Given the description of an element on the screen output the (x, y) to click on. 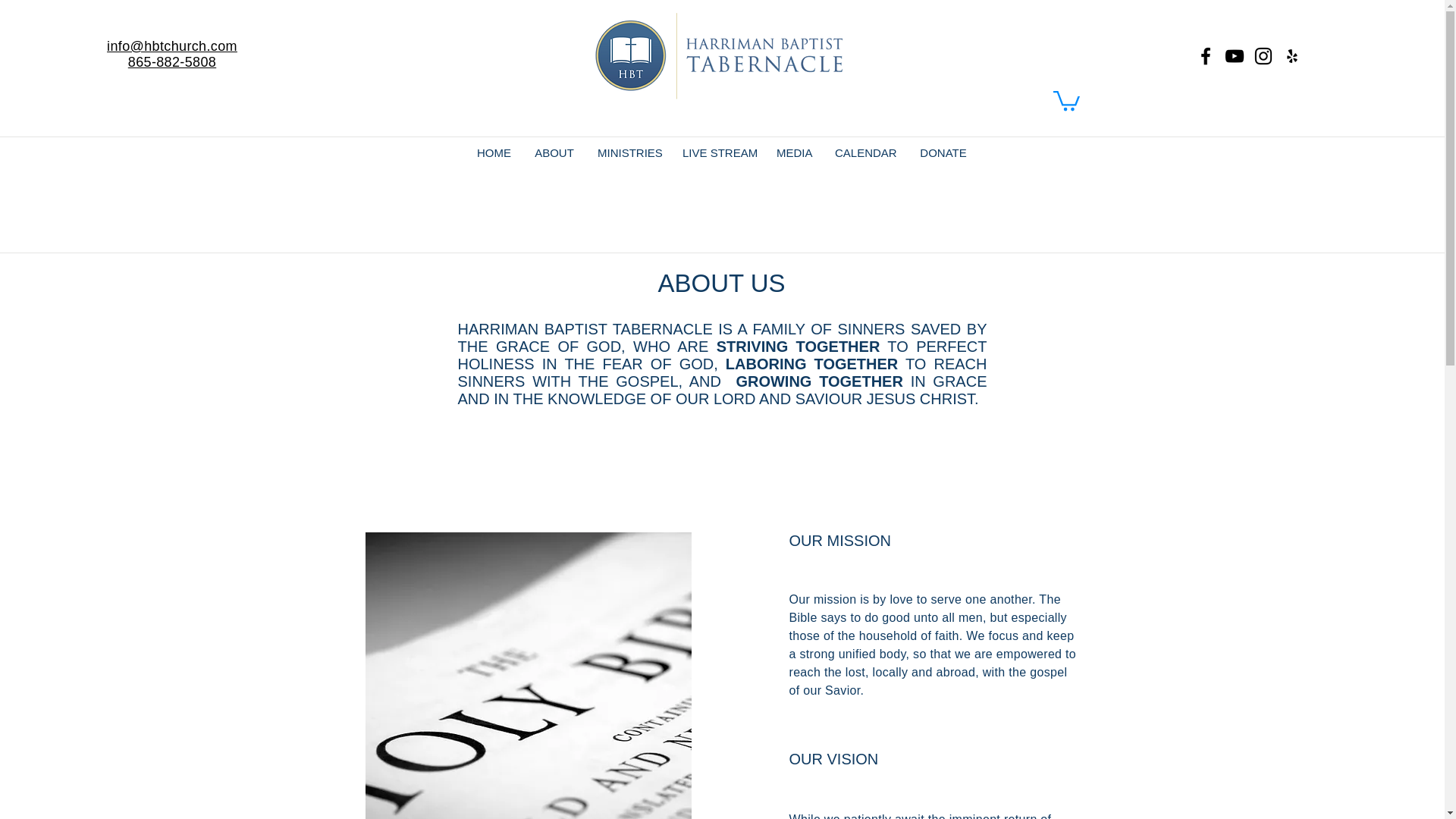
LIVE STREAM (718, 152)
HOME (493, 152)
MEDIA (794, 152)
CALENDAR (865, 152)
DONATE (942, 152)
